Given the description of an element on the screen output the (x, y) to click on. 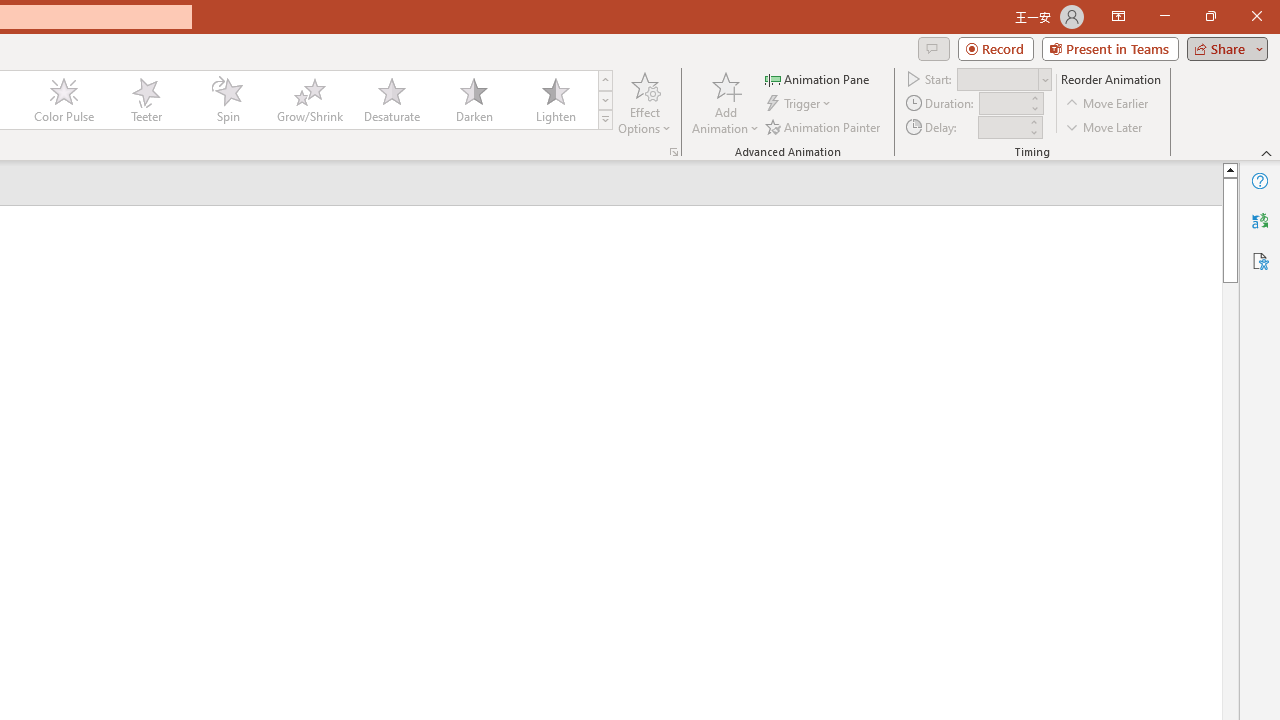
Desaturate (391, 100)
Animation Duration (1003, 103)
Spin (227, 100)
Teeter (145, 100)
